Given the description of an element on the screen output the (x, y) to click on. 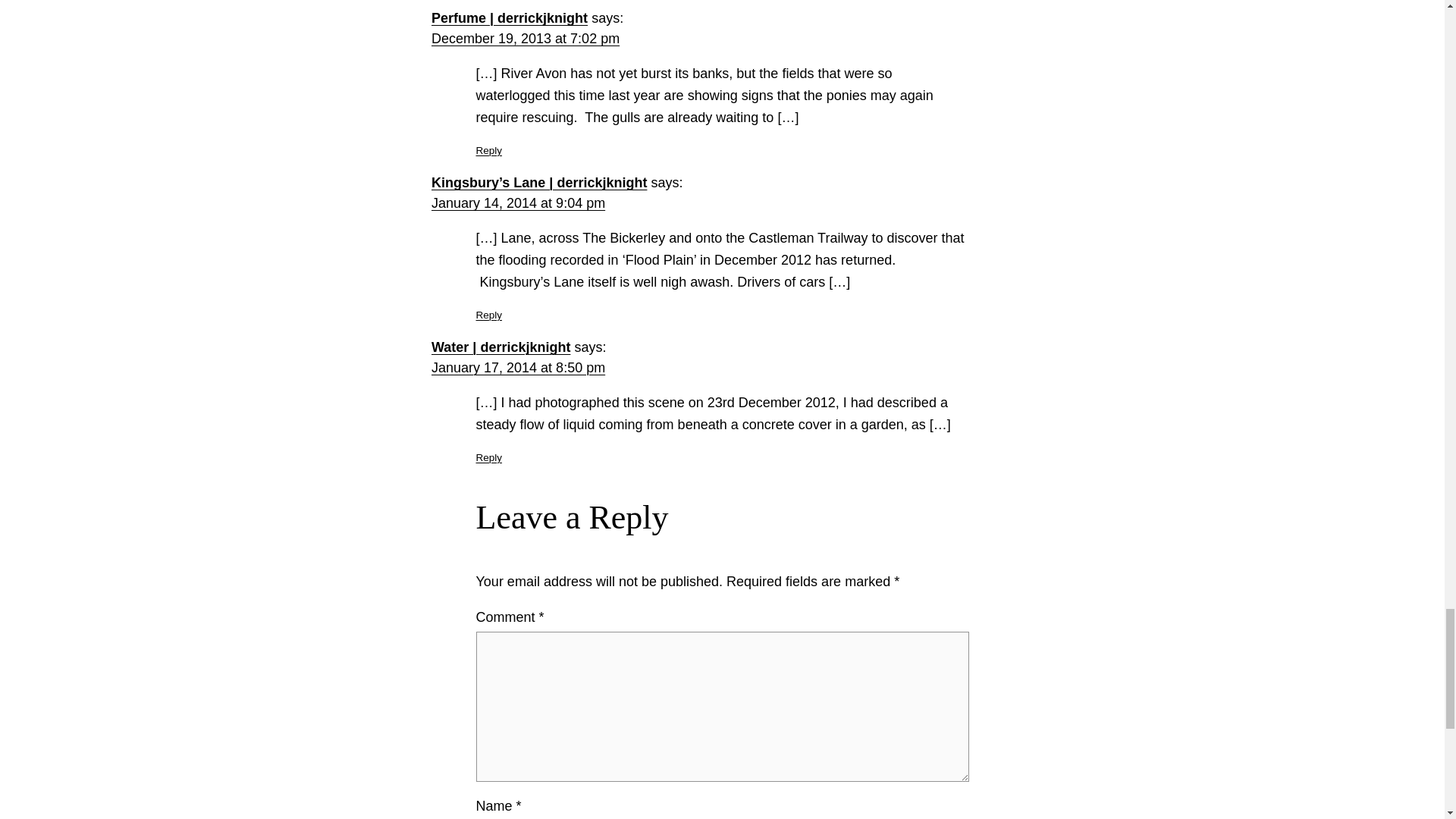
January 17, 2014 at 8:50 pm (517, 367)
Reply (489, 315)
Reply (489, 457)
December 19, 2013 at 7:02 pm (525, 38)
Reply (489, 150)
January 14, 2014 at 9:04 pm (517, 202)
